Given the description of an element on the screen output the (x, y) to click on. 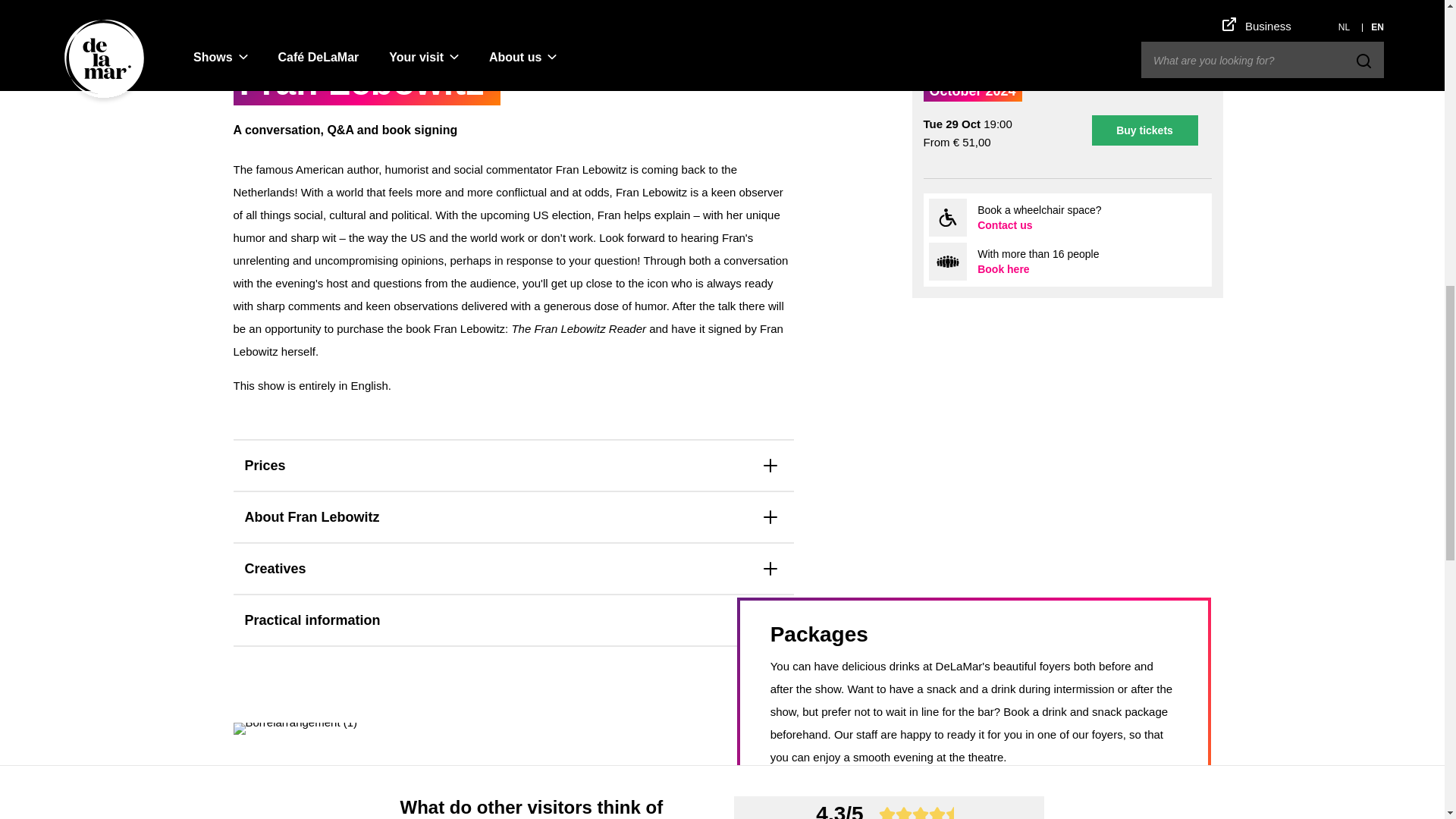
Book here (1002, 268)
About Fran Lebowitz (513, 517)
Buy tickets (1145, 130)
Contact us (1004, 224)
Creatives (513, 568)
Prices (513, 465)
Practical information (513, 620)
